Given the description of an element on the screen output the (x, y) to click on. 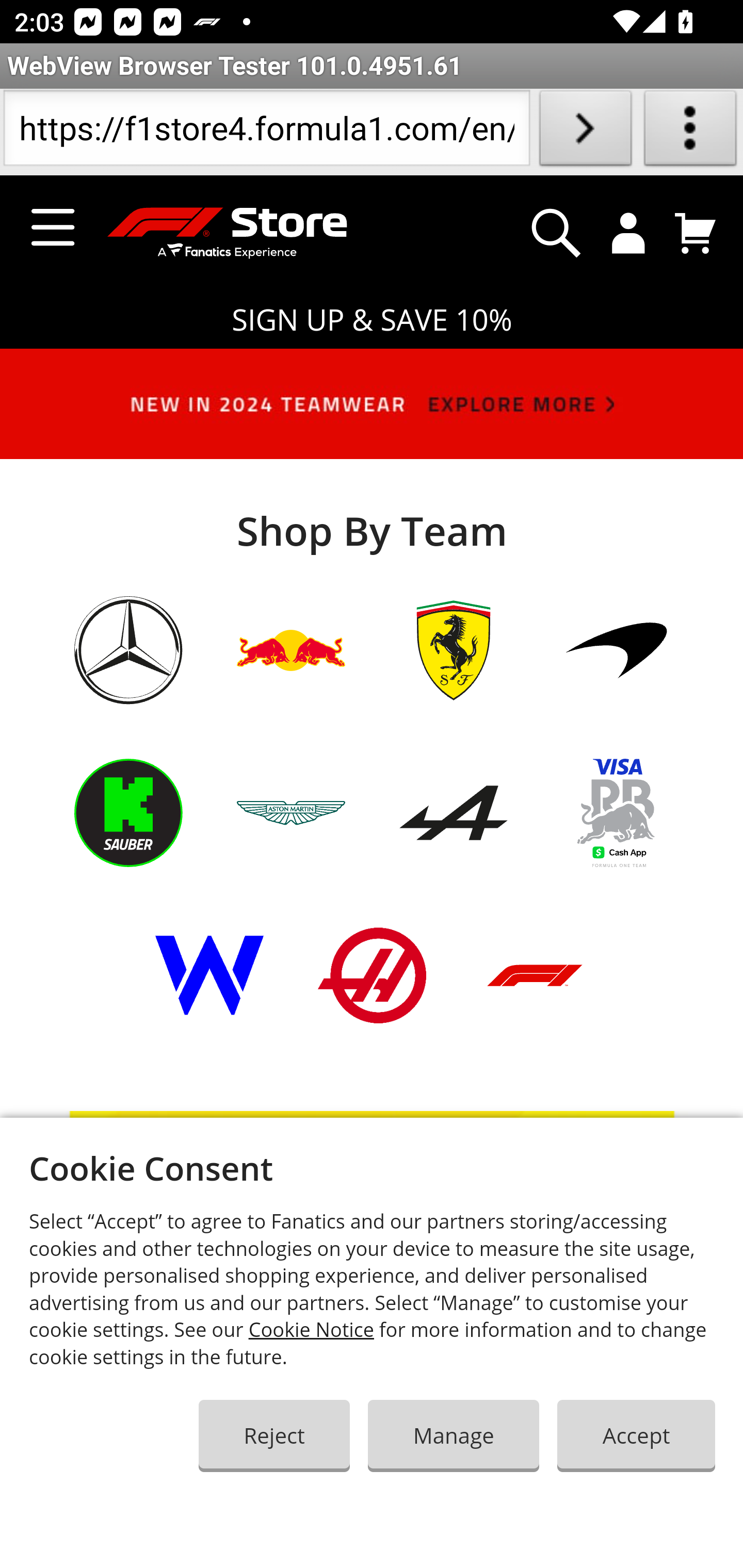
https://f1store4.formula1.com/en/ (266, 132)
Load URL (585, 132)
About WebView (690, 132)
F1 Store (217, 234)
 (555, 233)
 (628, 233)
You have 0 items in cart. The total is US$0.00  (695, 232)
SIGN UP & SAVE 10% (371, 320)
NEW IN 2024 TEAMWEAR - SHOP NOW (371, 411)
Mercedes (128, 677)
Red Bull (291, 677)
Ferrari (453, 677)
McLaren (616, 677)
Kick Sauber (128, 839)
Aston Martin (291, 839)
Alpine (453, 839)
RB (616, 839)
Williams (209, 1002)
Haas (371, 1002)
F1 (534, 1001)
FERRARI 2024 TEAMWEAR - SHOP NOW (371, 1339)
